Given the description of an element on the screen output the (x, y) to click on. 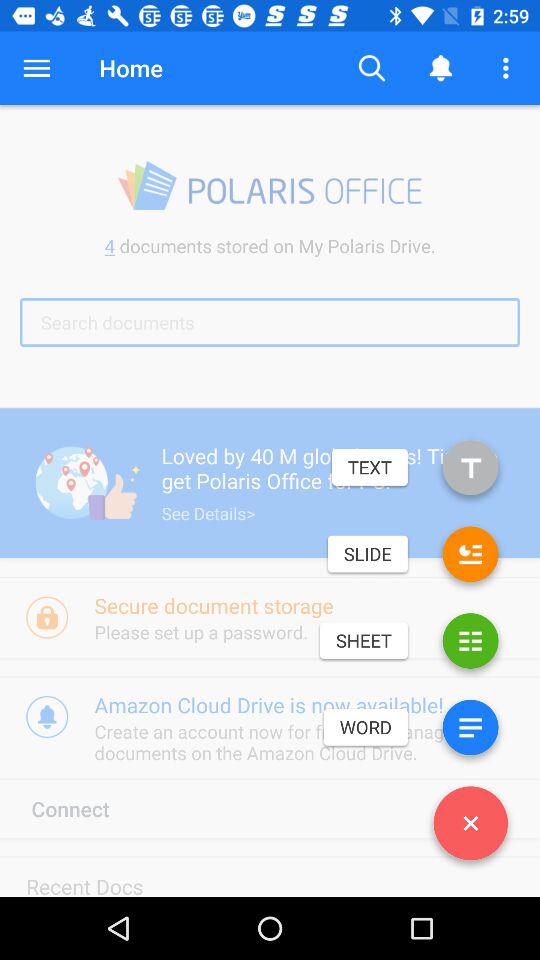
create a slideshow (470, 558)
